Given the description of an element on the screen output the (x, y) to click on. 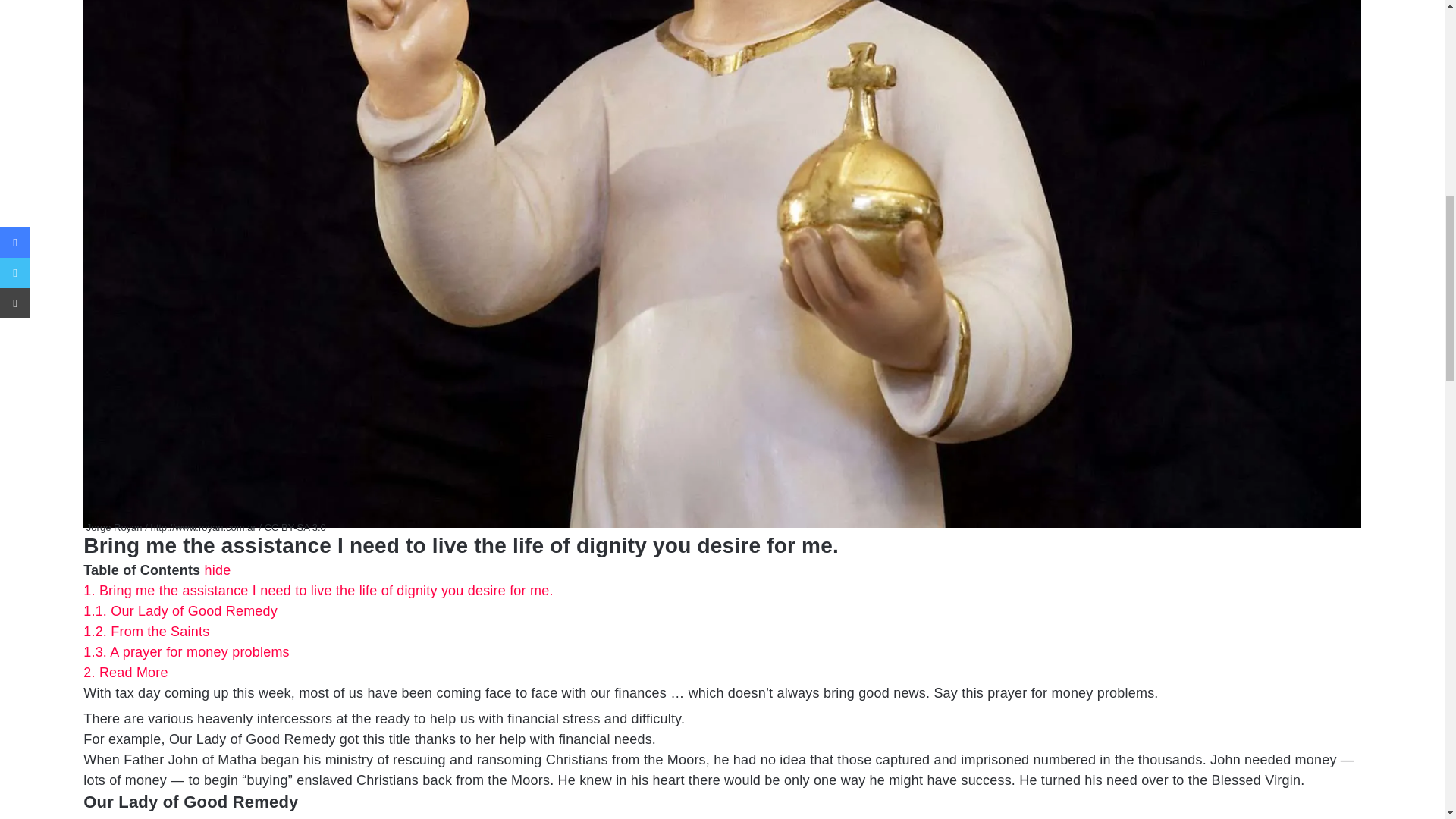
hide (218, 570)
